Given the description of an element on the screen output the (x, y) to click on. 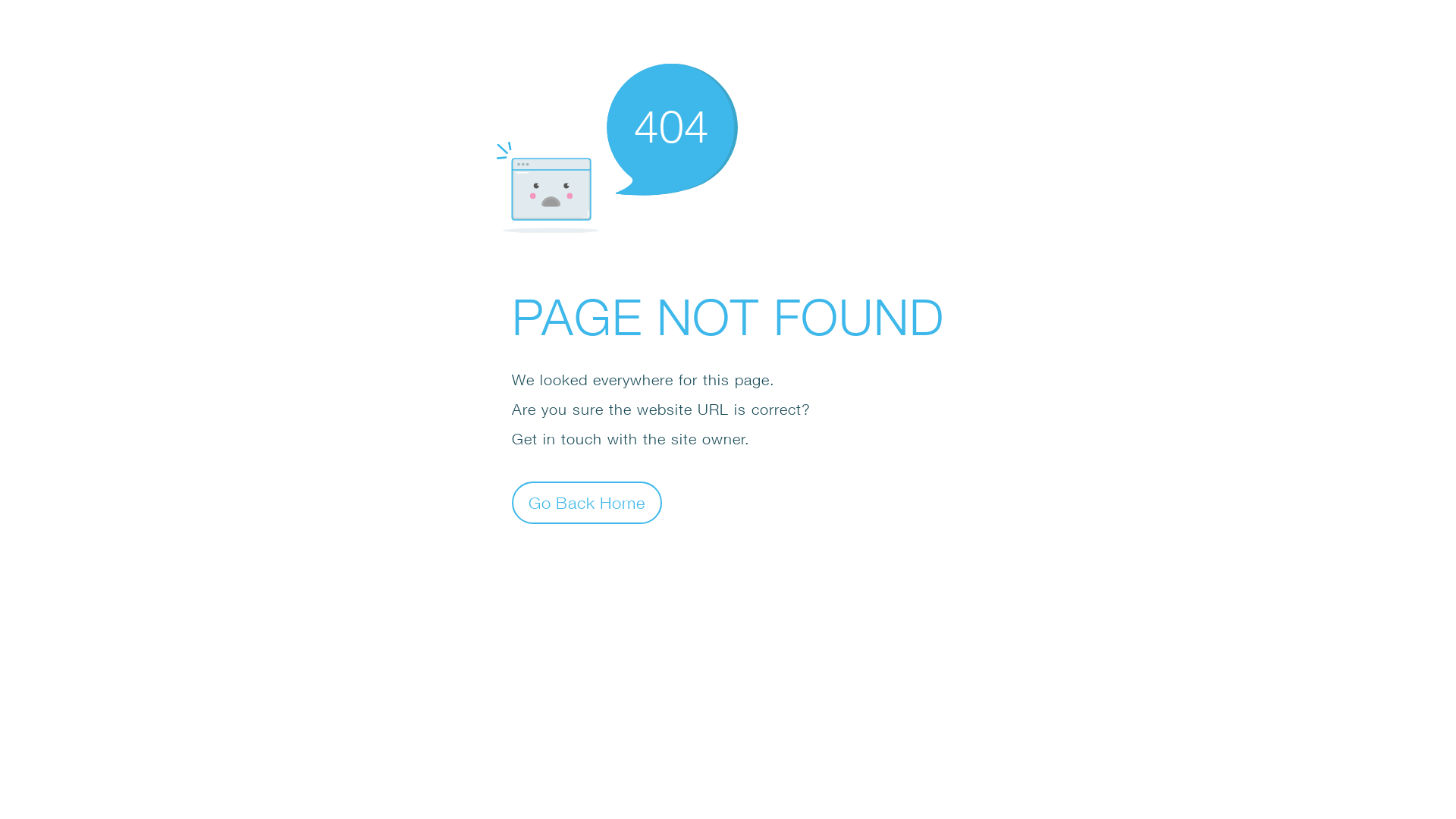
Go Back Home Element type: text (586, 502)
